Given the description of an element on the screen output the (x, y) to click on. 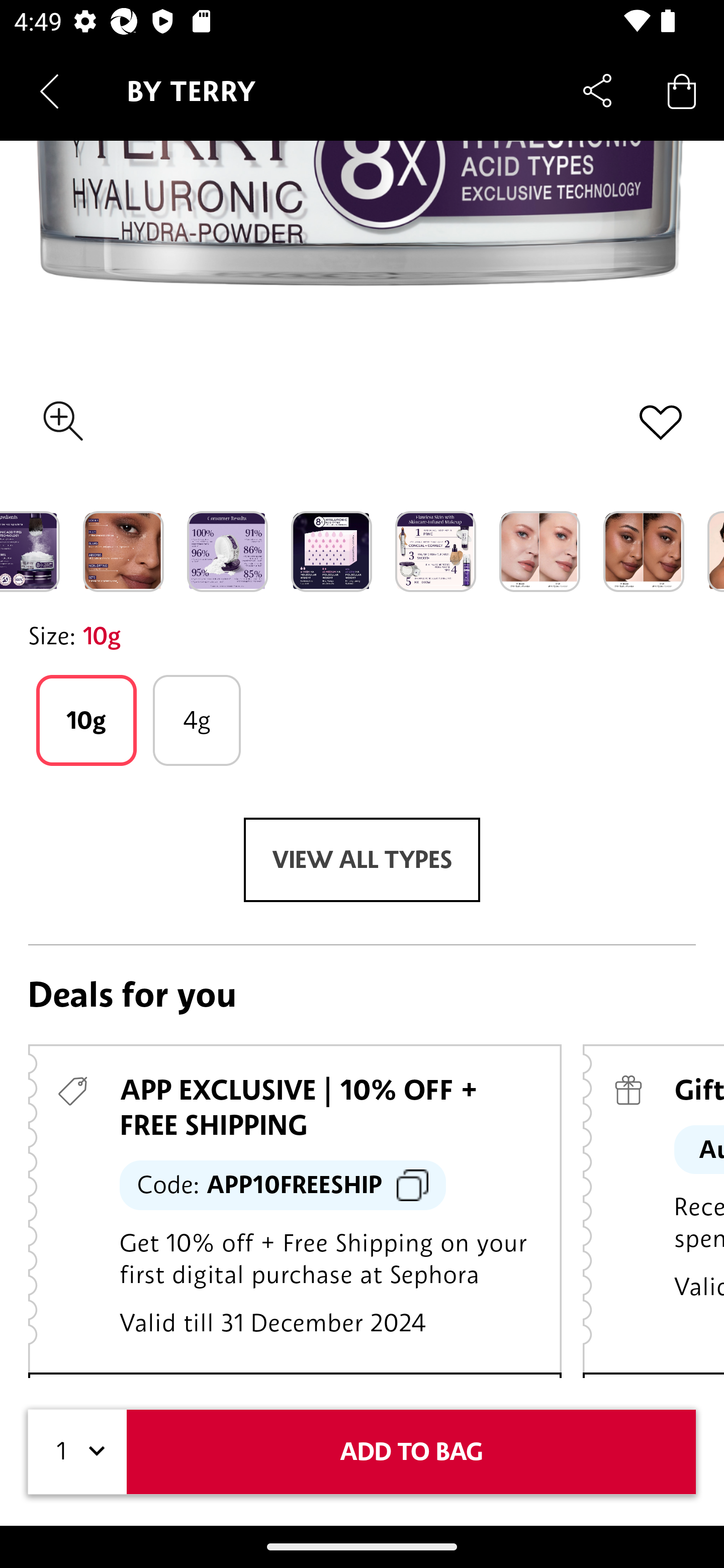
Navigate up (49, 91)
Share (597, 90)
Bag (681, 90)
10g (86, 719)
4g (196, 719)
VIEW ALL TYPES (361, 858)
1 (77, 1451)
ADD TO BAG (410, 1451)
